Given the description of an element on the screen output the (x, y) to click on. 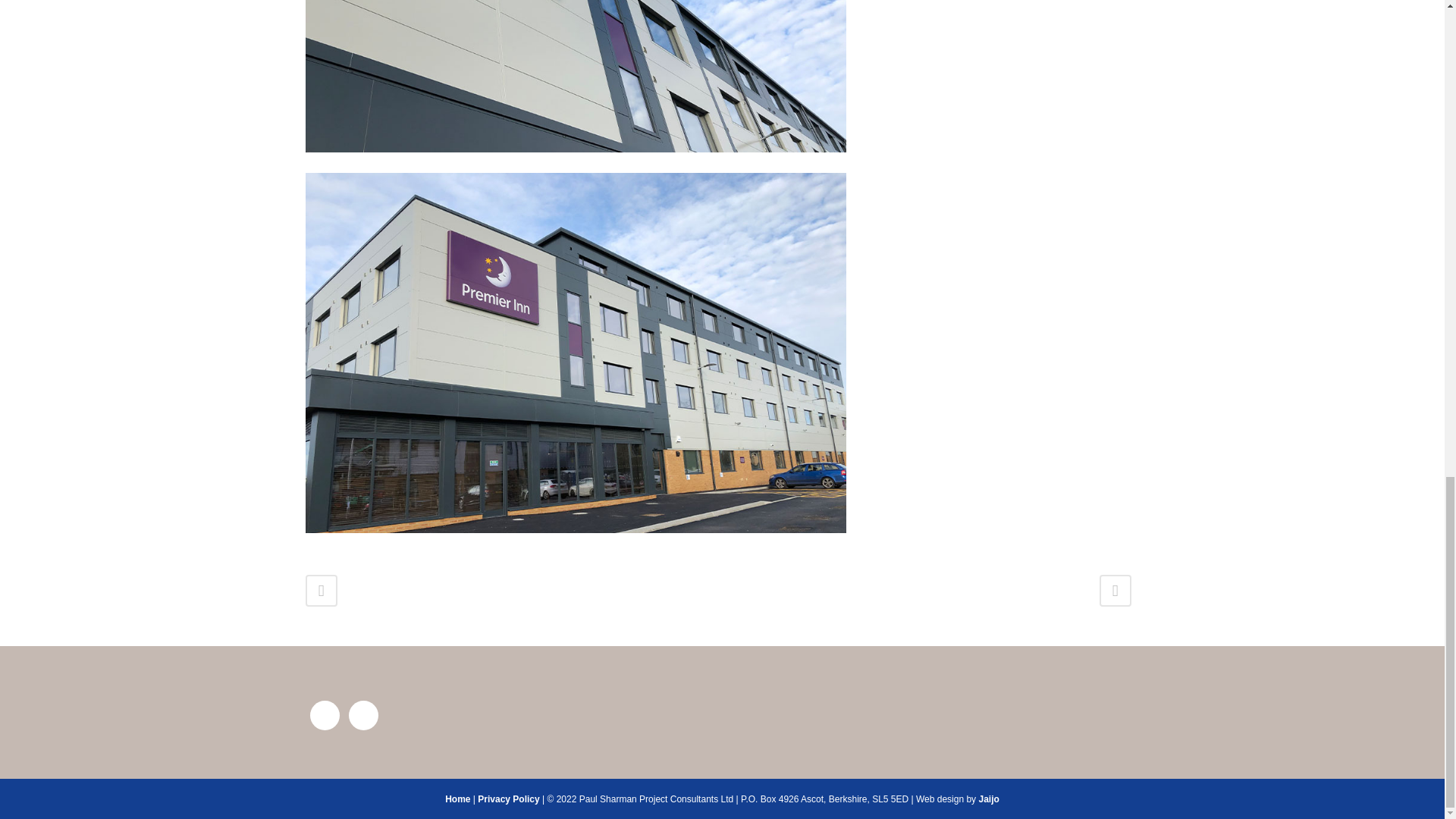
Privacy Policy (507, 798)
Jaijo (988, 798)
Home (457, 798)
